Given the description of an element on the screen output the (x, y) to click on. 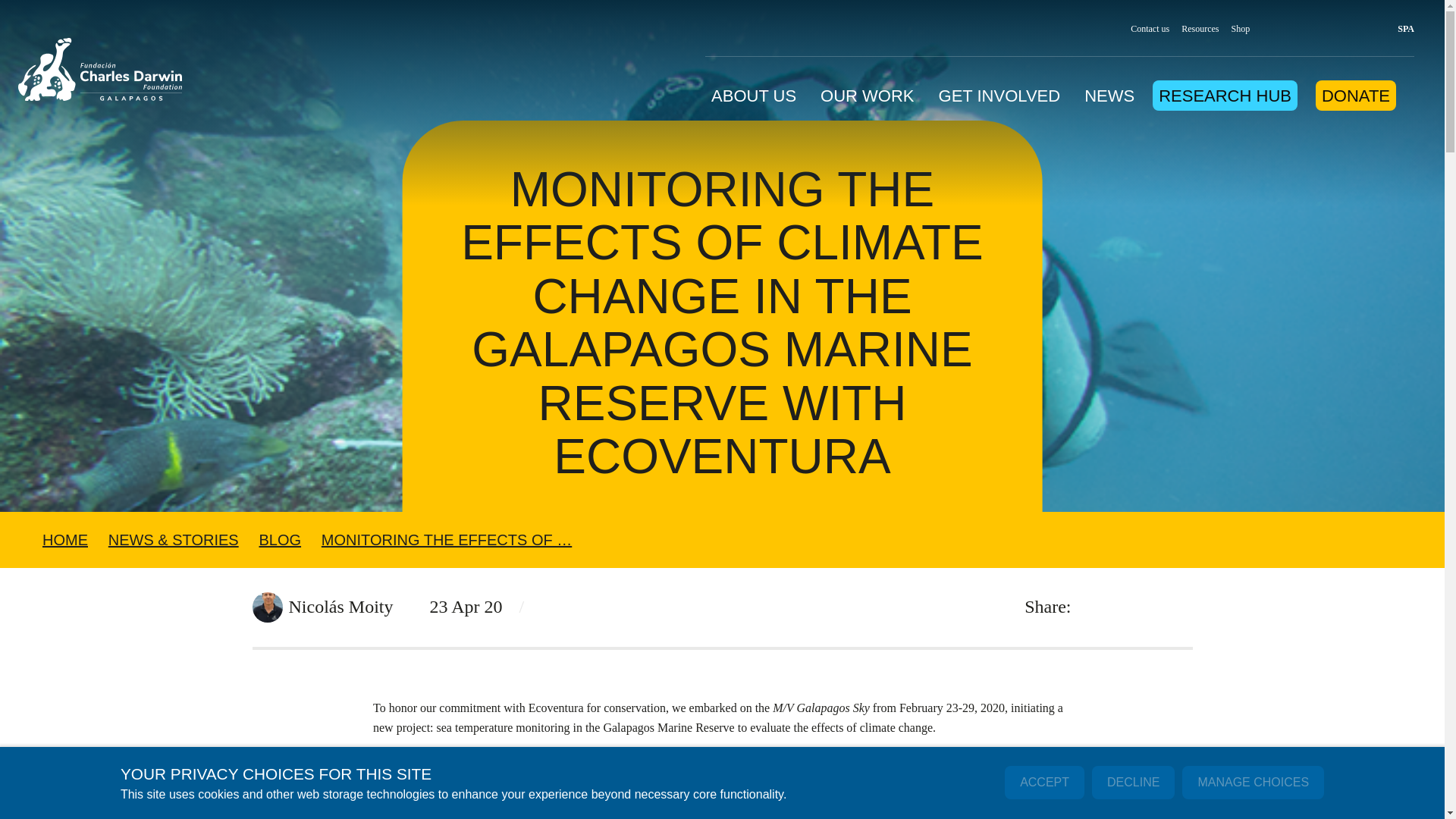
OUR WORK (867, 91)
Contact us (1150, 29)
ABOUT US (753, 91)
Blog (280, 539)
Home (99, 72)
SPA (1398, 28)
Resources (1199, 29)
Shop (1240, 29)
